Given the description of an element on the screen output the (x, y) to click on. 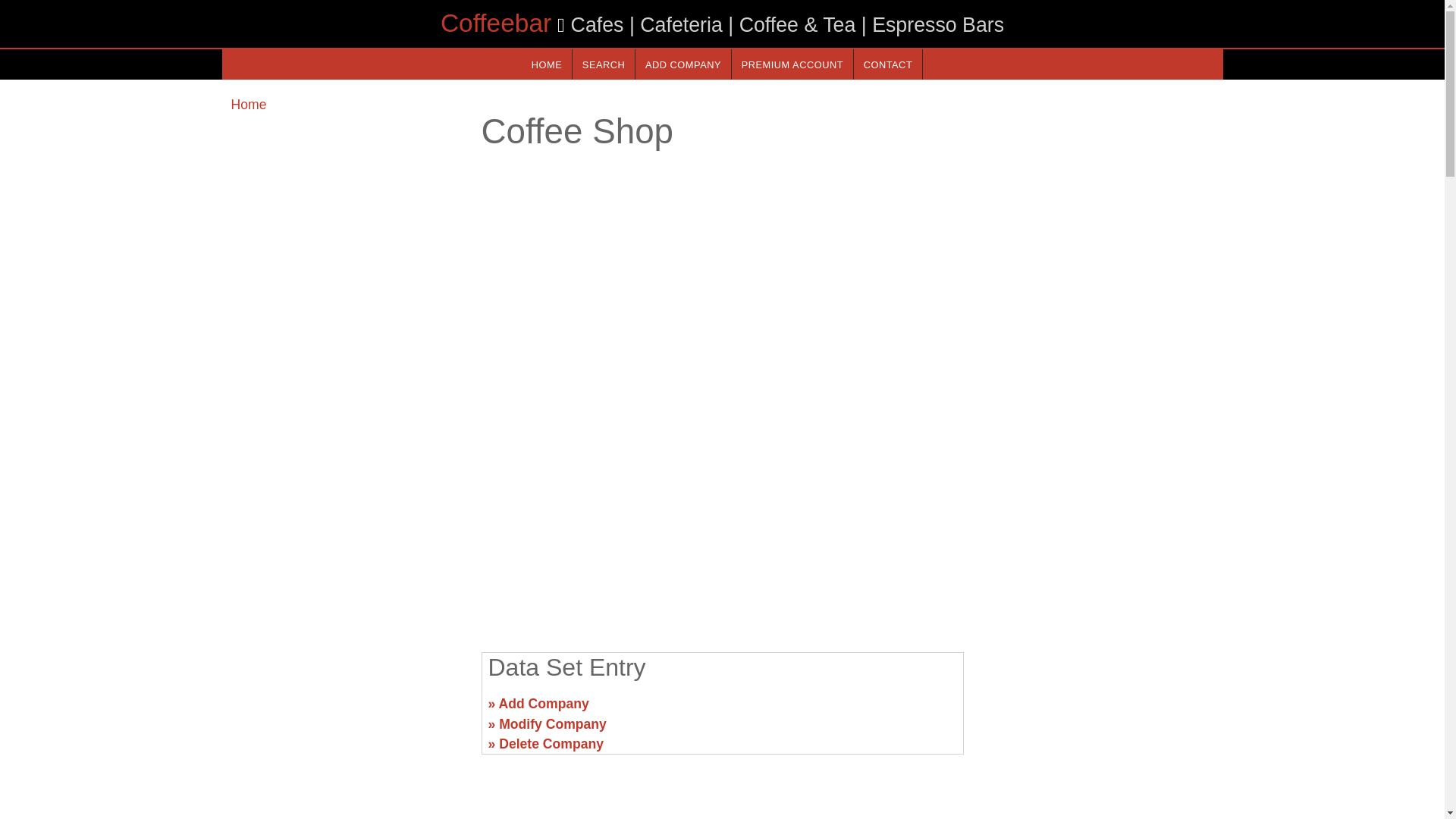
Premium account (792, 64)
Search in this webseite. (603, 64)
Advertisement (721, 522)
ADD COMPANY (682, 64)
Add a new company (682, 64)
Home (248, 104)
CONTACT (887, 64)
Coffeebar (496, 22)
Advertisement (1096, 710)
HOME (546, 64)
PREMIUM ACCOUNT (792, 64)
Advertisement (346, 710)
SEARCH (603, 64)
